Given the description of an element on the screen output the (x, y) to click on. 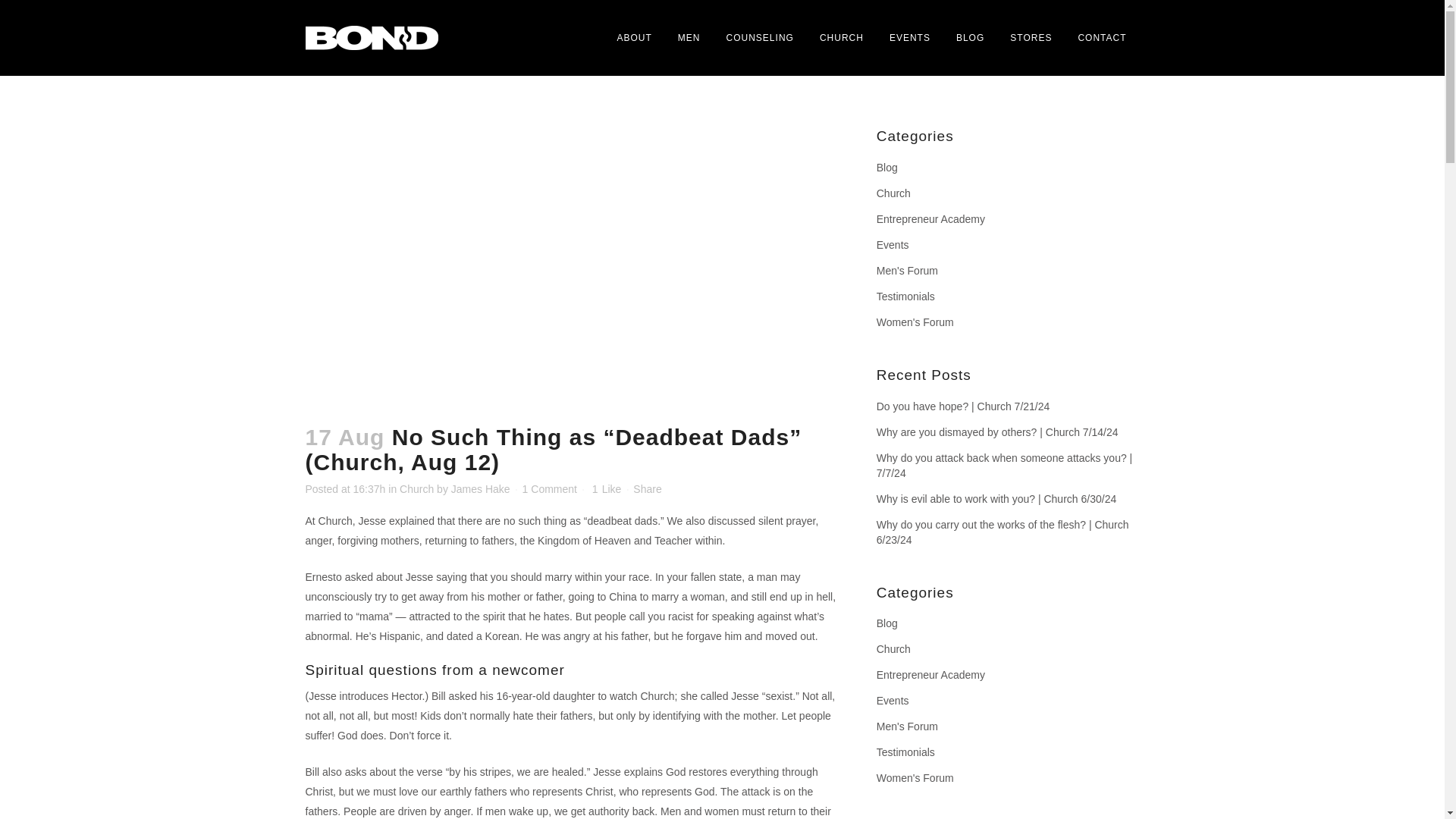
COUNSELING (759, 38)
Men's Forum (906, 270)
1 Like (606, 489)
Events (892, 244)
James Hake (481, 489)
ABOUT (634, 38)
Women's Forum (914, 322)
CHURCH (841, 38)
1 Comment (549, 489)
CONTACT (1101, 38)
Blog (887, 167)
BLOG (970, 38)
Church (415, 489)
STORES (1030, 38)
Testimonials (905, 296)
